Given the description of an element on the screen output the (x, y) to click on. 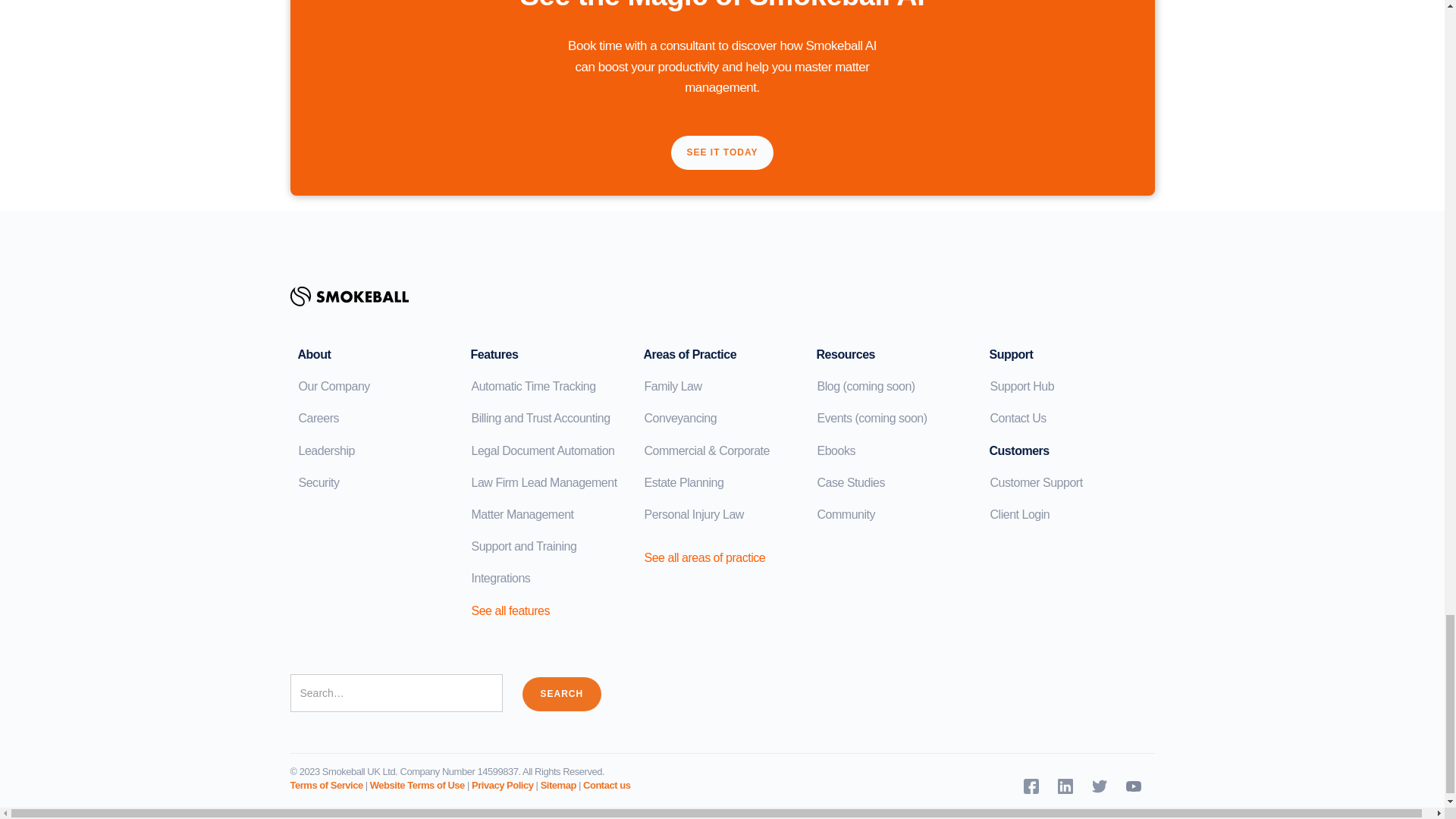
Search (561, 694)
